Given the description of an element on the screen output the (x, y) to click on. 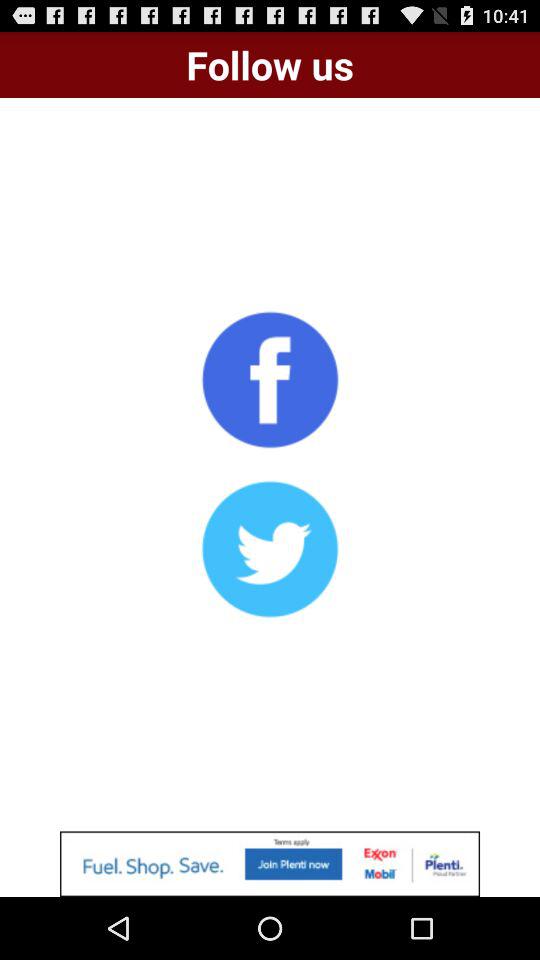
shows twitter icon (270, 549)
